Given the description of an element on the screen output the (x, y) to click on. 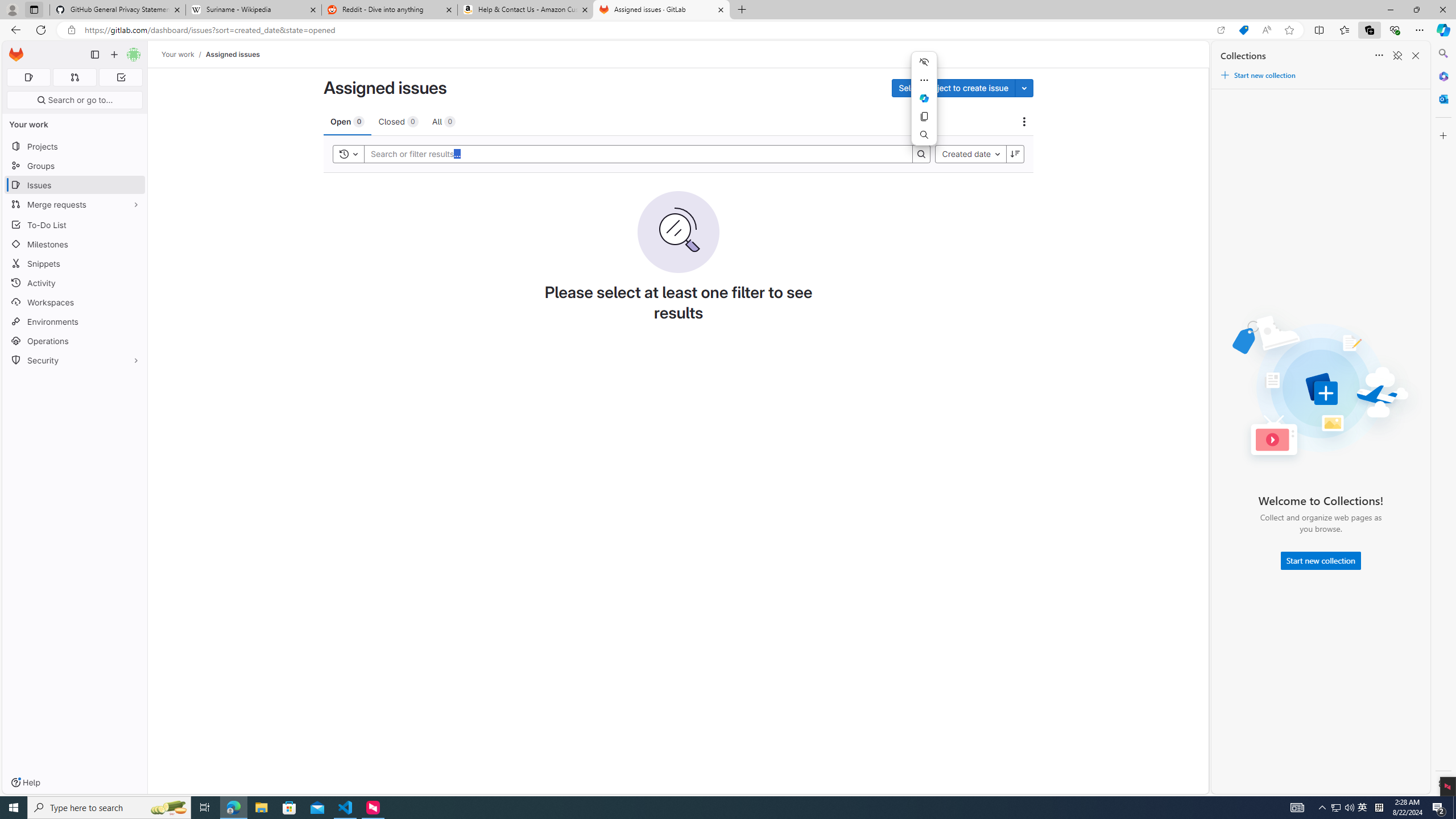
Select project to create issue (952, 87)
Snippets (74, 262)
Projects (74, 145)
Sort (1379, 55)
All 0 (444, 121)
Close Collections (1415, 55)
Security (74, 359)
Environments (74, 321)
Closed 0 (398, 121)
